Given the description of an element on the screen output the (x, y) to click on. 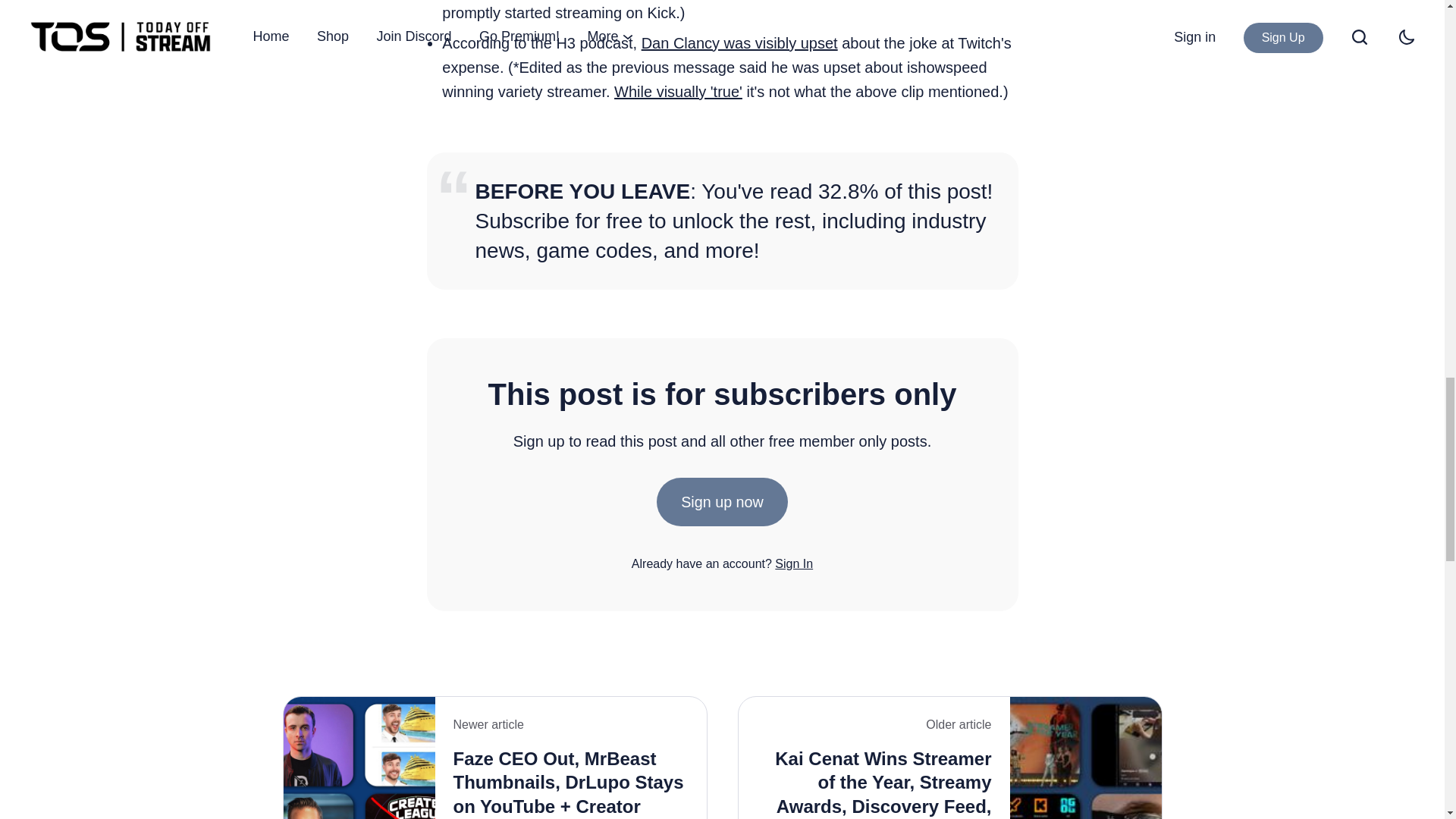
Sign In (793, 563)
While visually 'true' (678, 91)
Dan Clancy was visibly upset (740, 43)
Sign up now (721, 501)
